Given the description of an element on the screen output the (x, y) to click on. 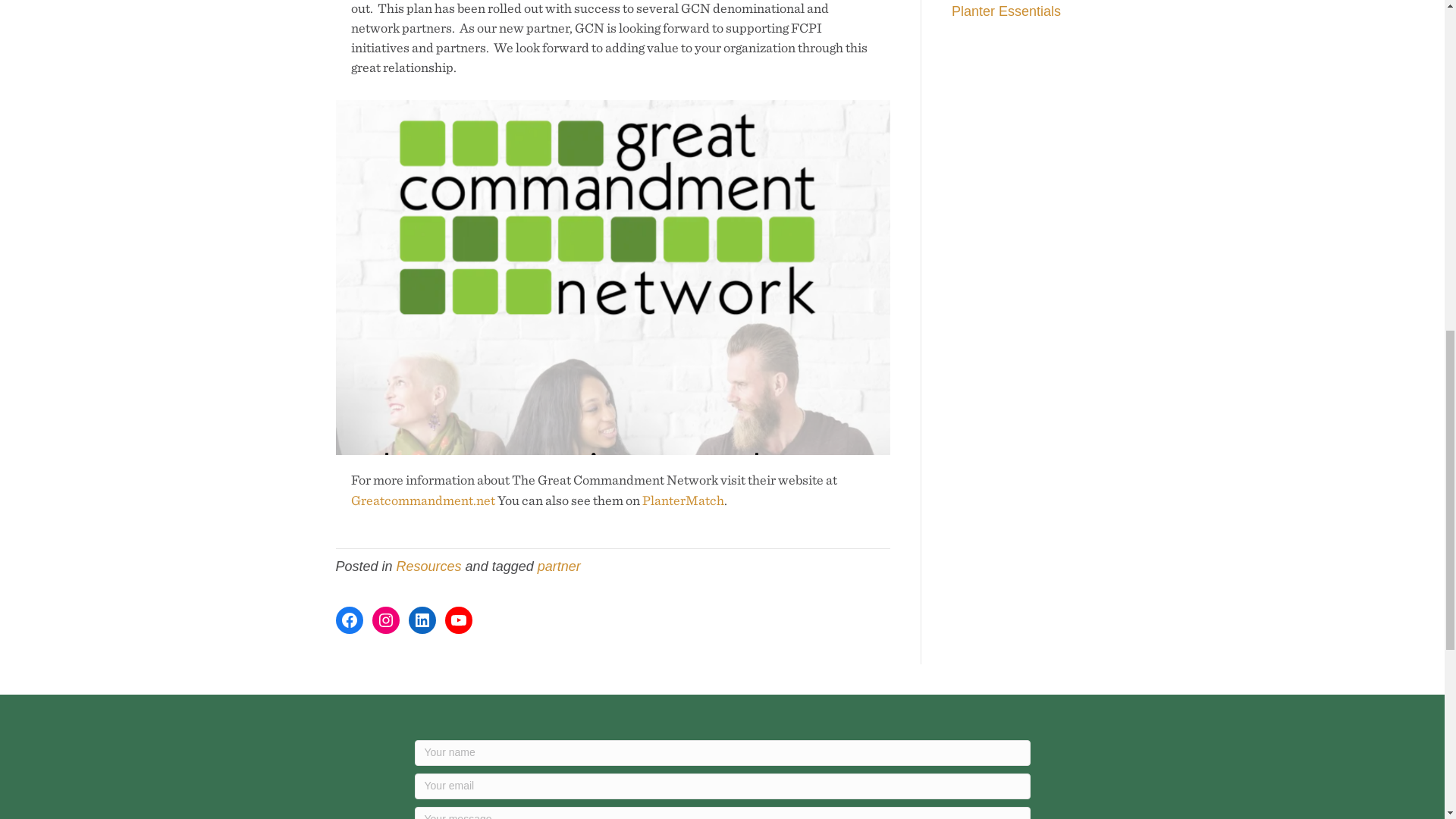
Facebook (348, 619)
YouTube (457, 619)
LinkedIn (421, 619)
Resources (428, 566)
Planter Essentials (1006, 11)
partner (558, 566)
Greatcommandment.net (422, 499)
Instagram (384, 619)
PlanterMatch (682, 499)
